Given the description of an element on the screen output the (x, y) to click on. 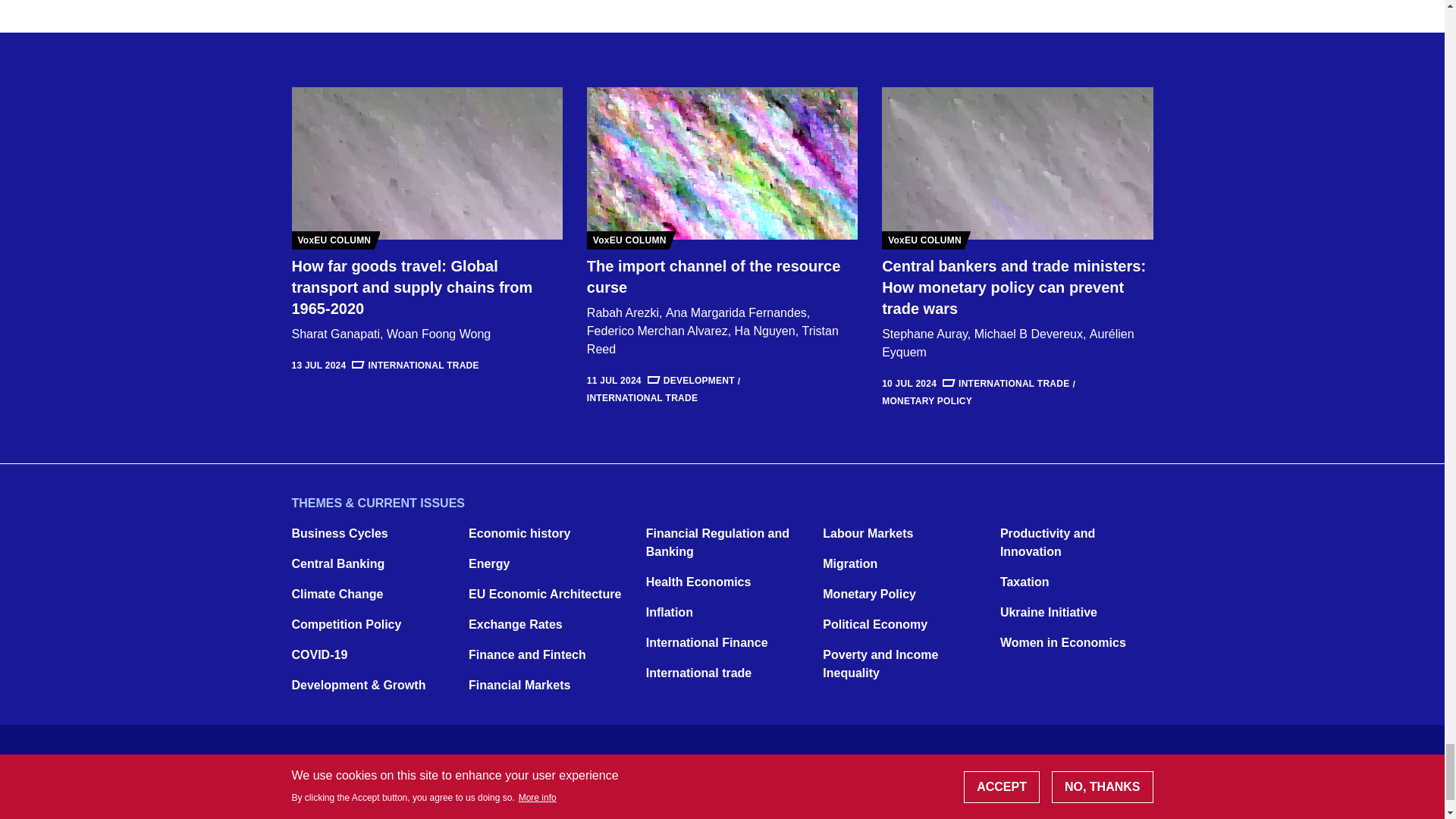
sign up (894, 805)
